Given the description of an element on the screen output the (x, y) to click on. 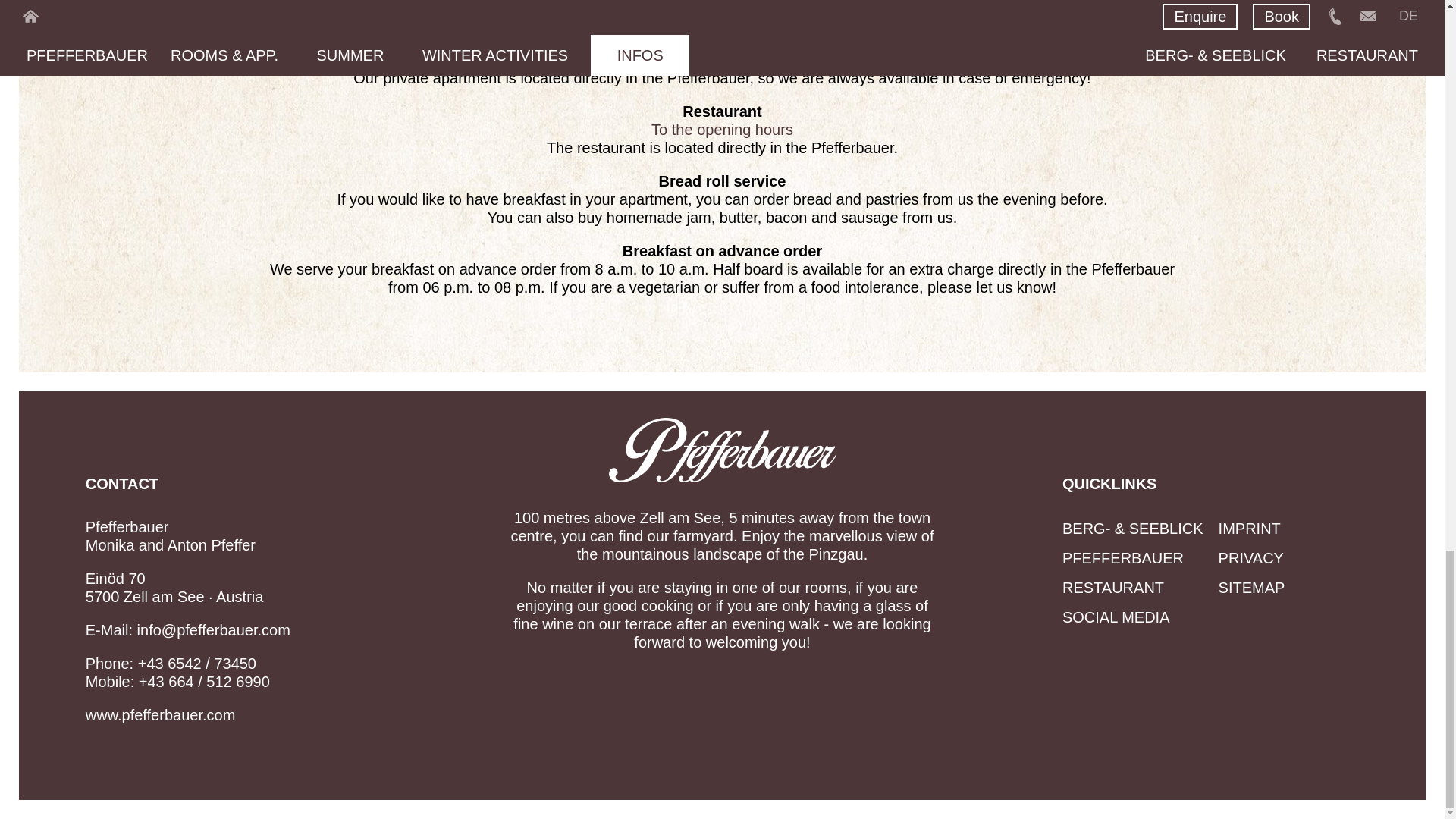
To the opening hours (721, 129)
